Given the description of an element on the screen output the (x, y) to click on. 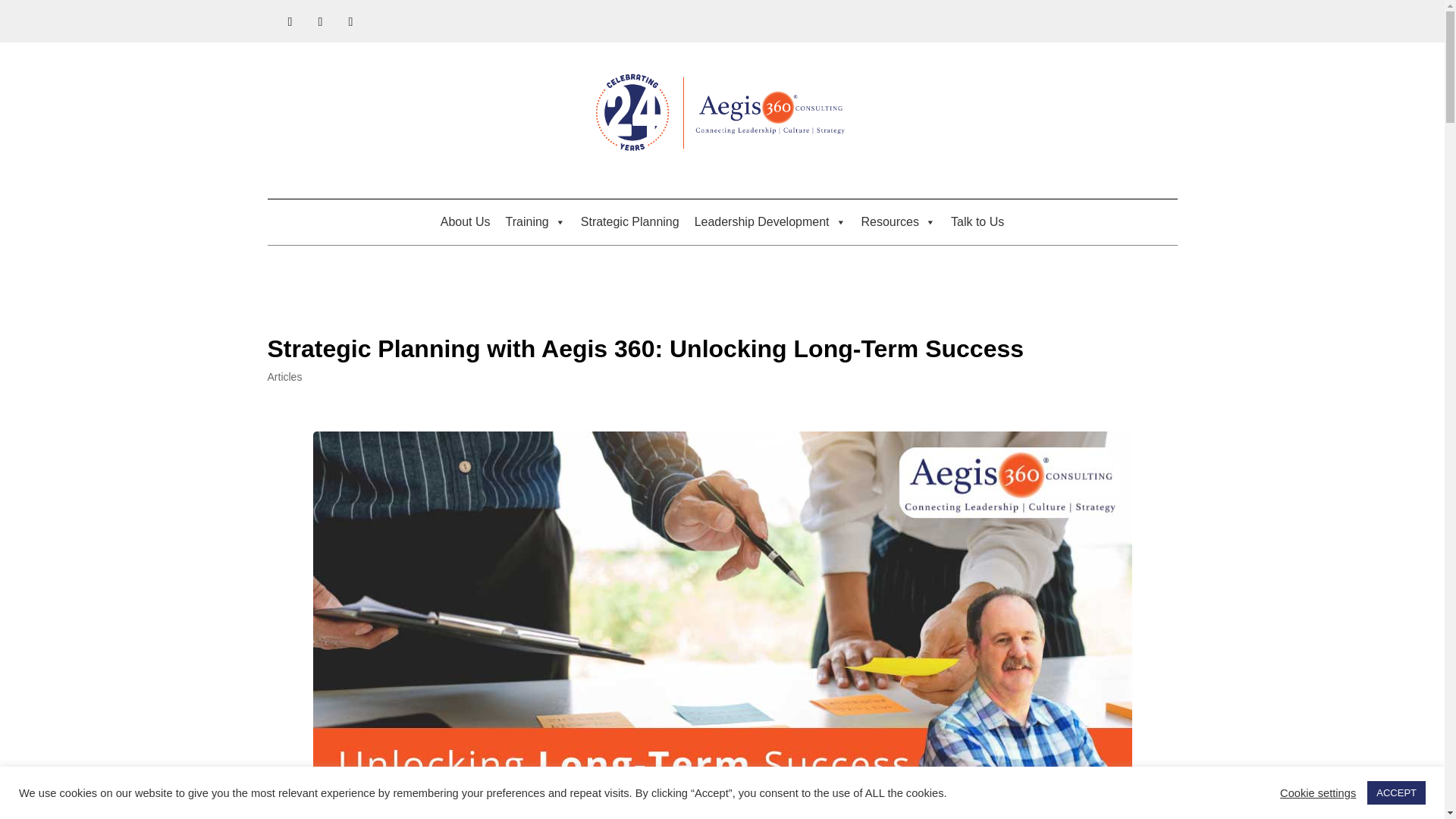
About Us (464, 222)
Talk to Us (977, 222)
Strategic Planning (630, 222)
Follow on Youtube (349, 21)
Leadership Development (770, 222)
Resources (898, 222)
Follow on Facebook (289, 21)
Articles (283, 377)
A360 24 Year Seal (722, 113)
Training (535, 222)
